Given the description of an element on the screen output the (x, y) to click on. 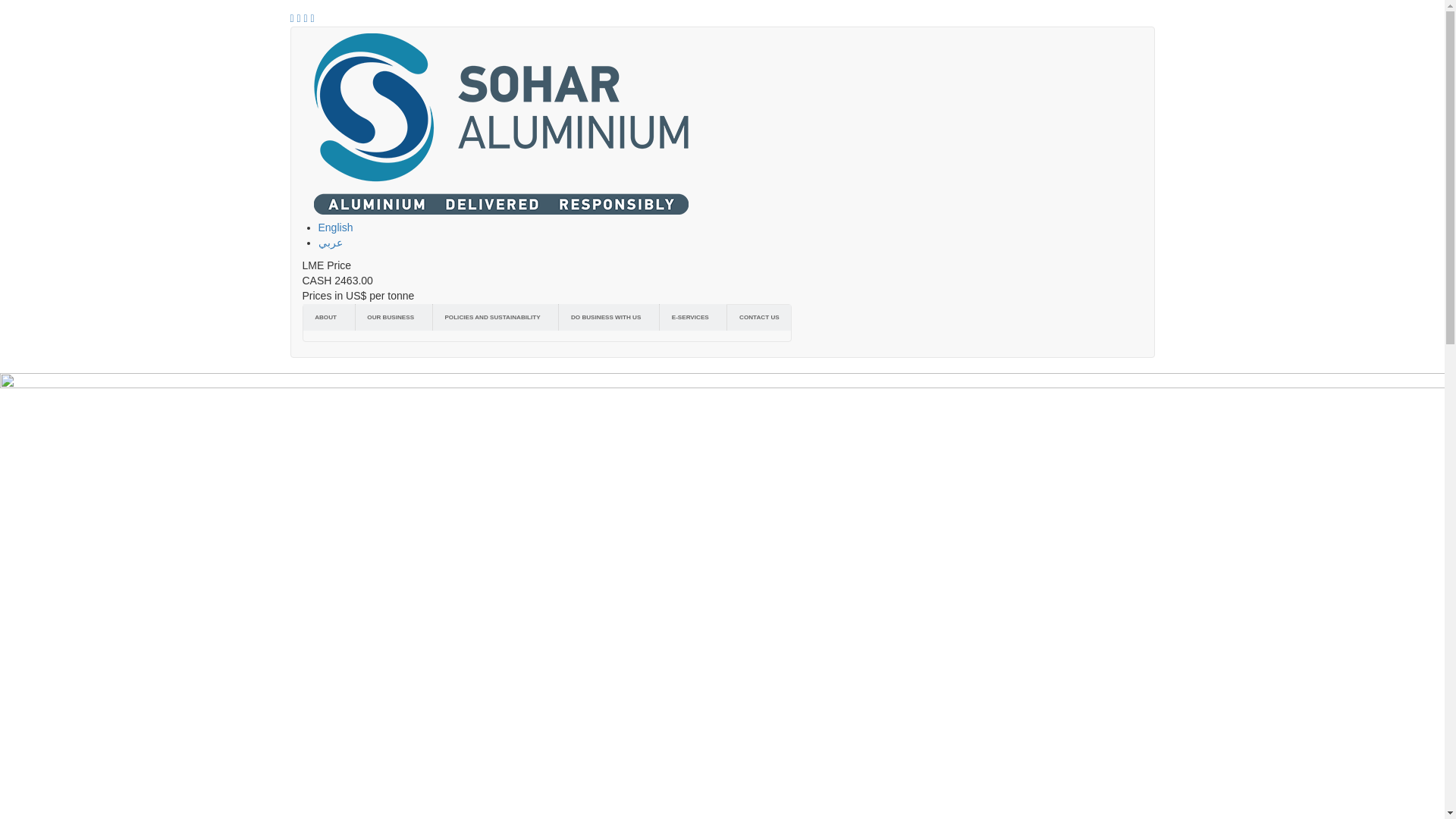
DO BUSINESS WITH US (609, 316)
E-SERVICES (692, 316)
ABOUT (328, 316)
English (335, 227)
POLICIES AND SUSTAINABILITY (495, 316)
Home (507, 123)
OUR BUSINESS (393, 316)
